Given the description of an element on the screen output the (x, y) to click on. 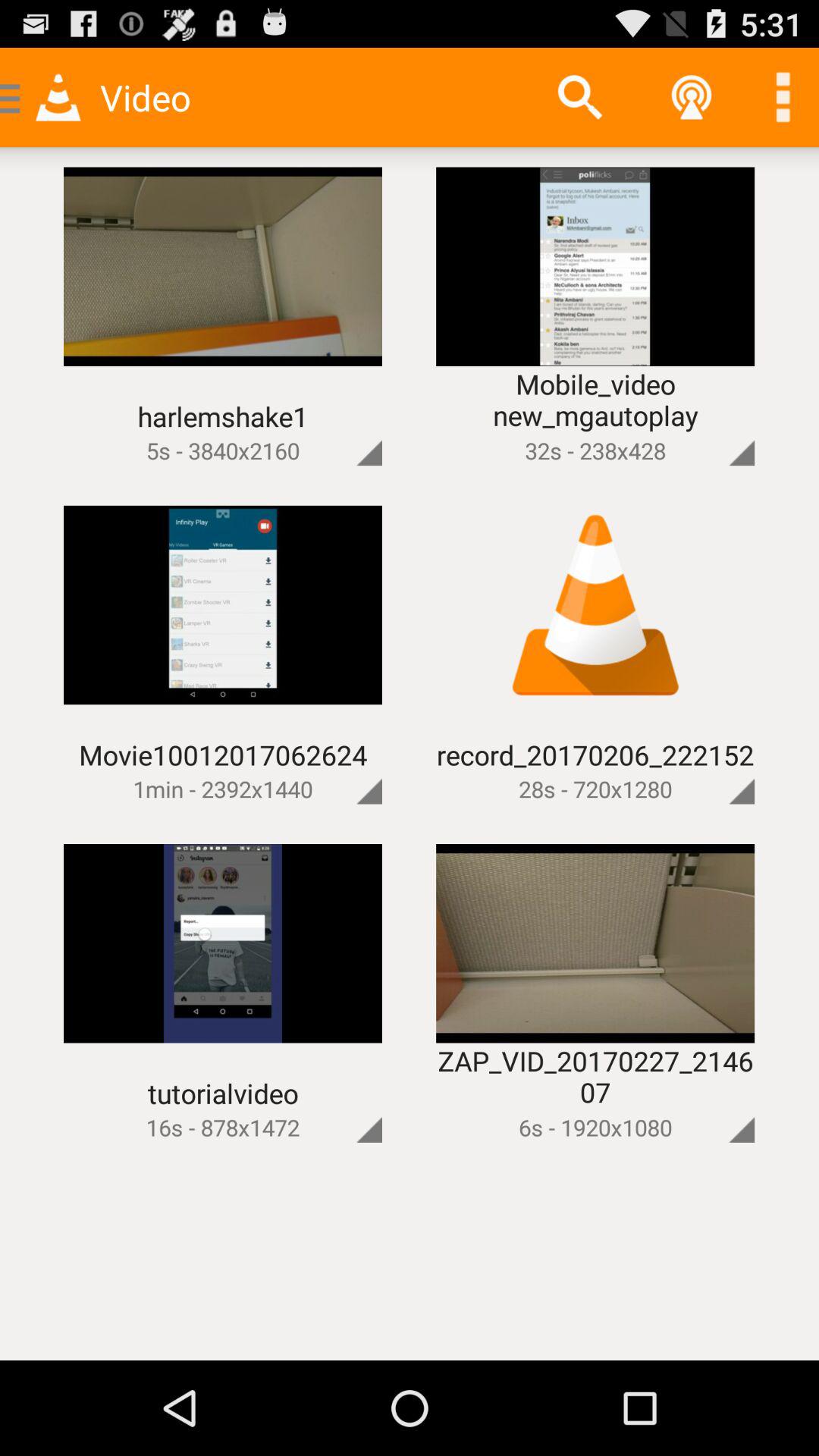
view full size image (715, 765)
